Given the description of an element on the screen output the (x, y) to click on. 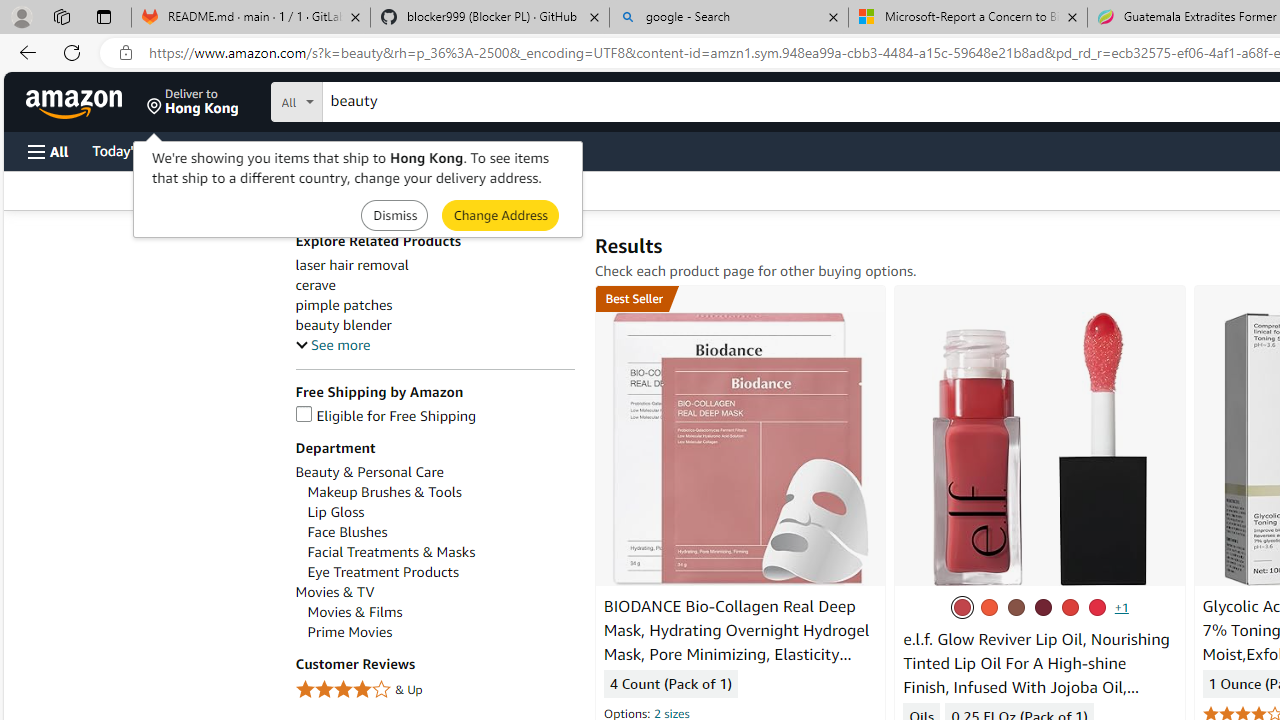
Jam Session (1043, 607)
+1 (1120, 606)
beauty blender (342, 325)
4 Stars & Up& Up (434, 690)
pimple patches (434, 304)
Eye Treatment Products (383, 572)
Facial Treatments & Masks (391, 552)
Facial Treatments & Masks (440, 552)
Registry (360, 150)
Face Blushes (347, 532)
Movies & TV (334, 592)
Deliver to Hong Kong (193, 101)
